Given the description of an element on the screen output the (x, y) to click on. 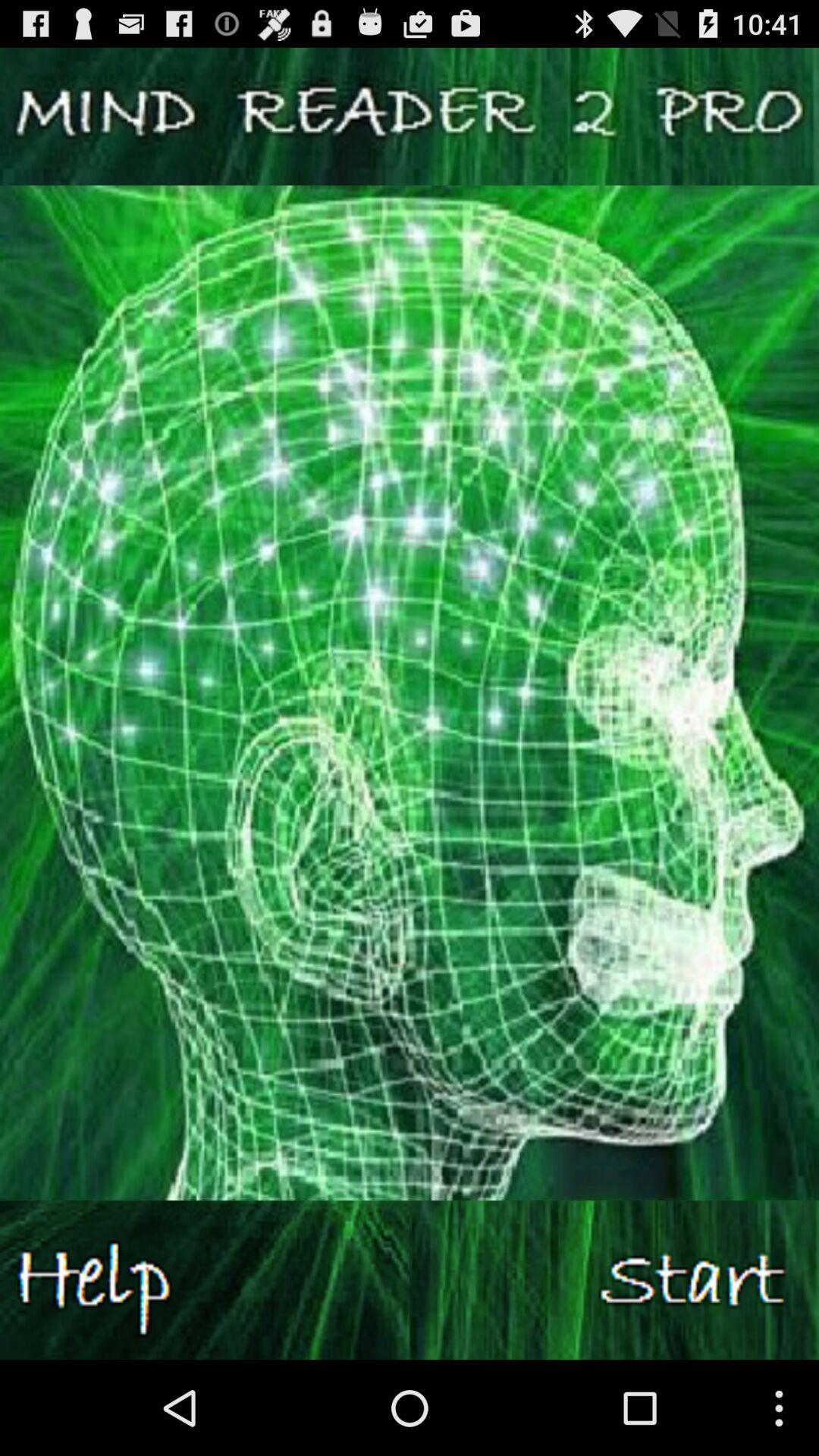
help (204, 1279)
